Given the description of an element on the screen output the (x, y) to click on. 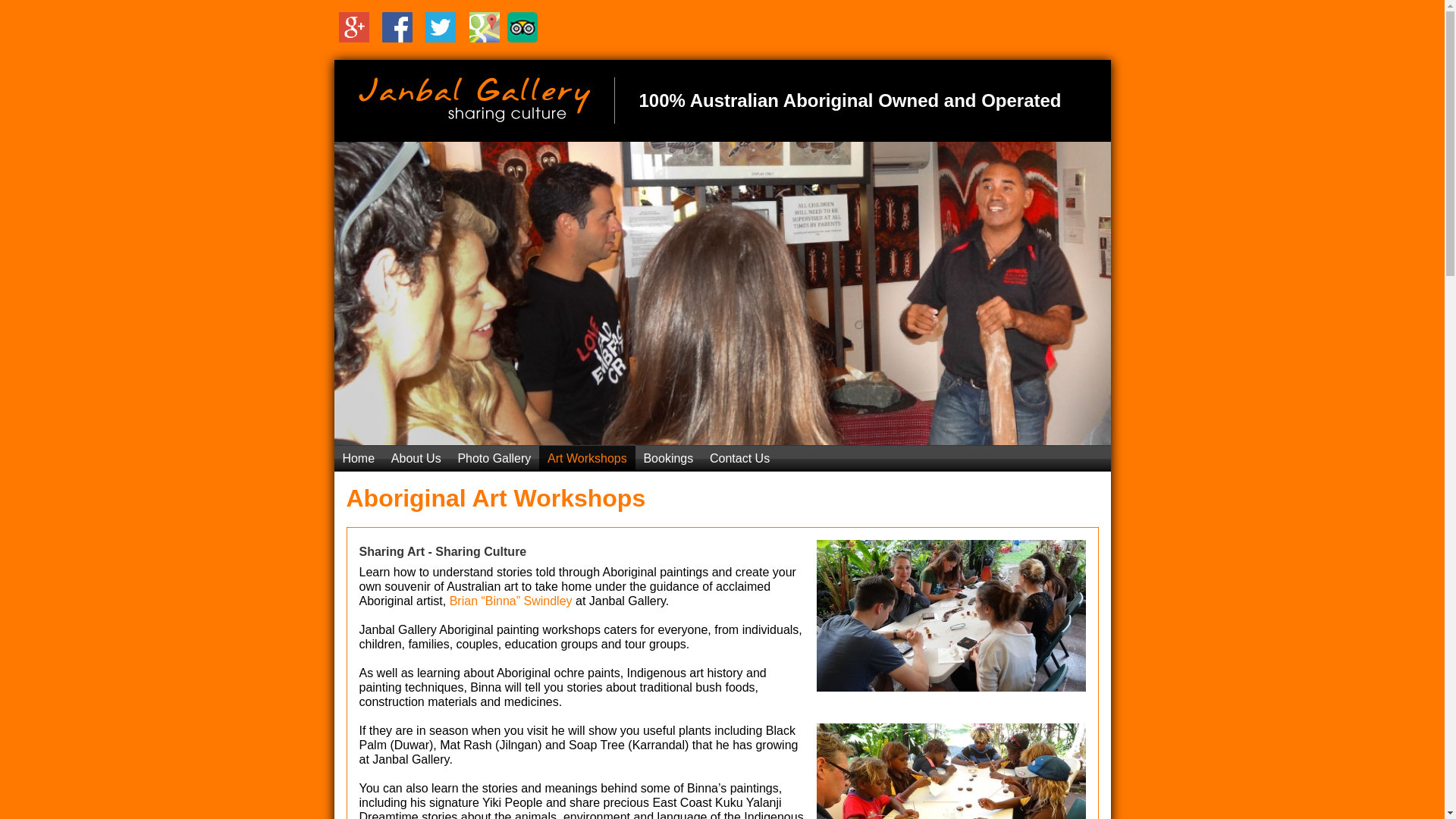
Contact Us Element type: text (739, 458)
Like our Facebook Element type: hover (397, 27)
Circle our Google Plus Element type: hover (353, 27)
Jump to navigation Element type: text (722, 2)
Bookings Element type: text (668, 458)
Photo Gallery Element type: text (493, 458)
View our Google Maps Element type: hover (484, 27)
Follow our Twitter Element type: hover (440, 27)
About Us Element type: text (415, 458)
Art Workshops Element type: text (586, 458)
Home Element type: text (357, 458)
